Given the description of an element on the screen output the (x, y) to click on. 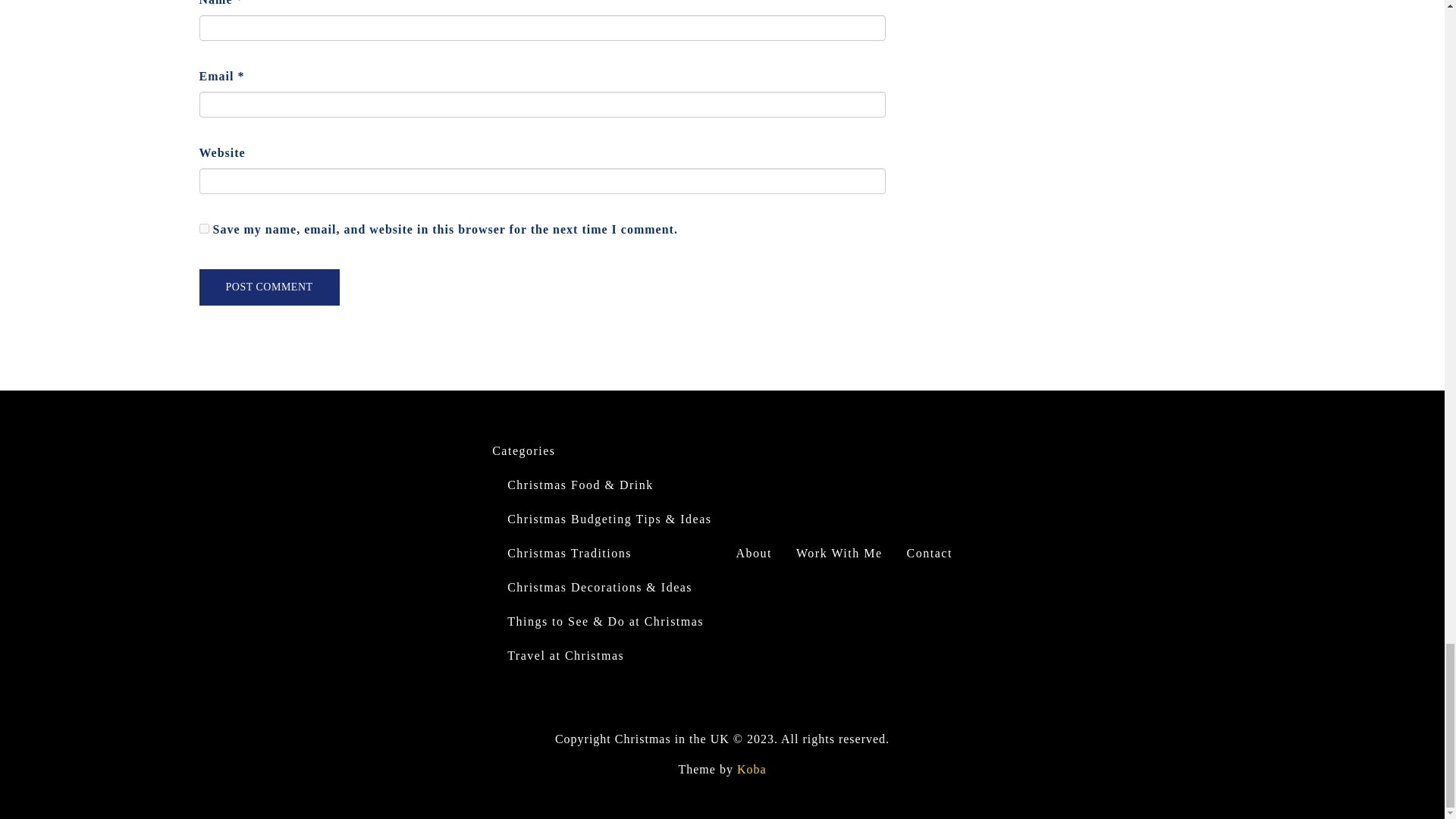
Post Comment (268, 287)
yes (203, 228)
Post Comment (268, 287)
